Given the description of an element on the screen output the (x, y) to click on. 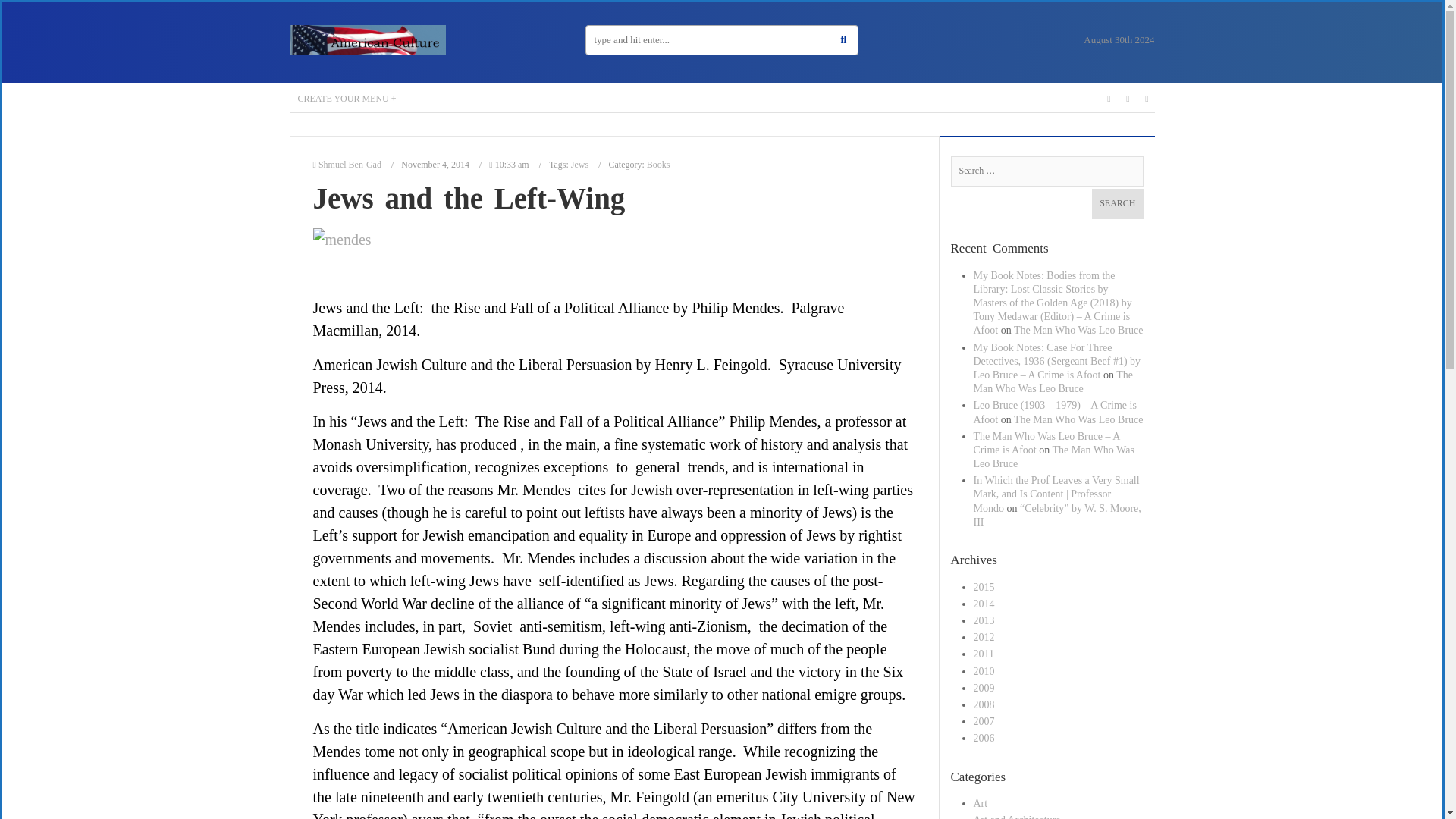
The Man Who Was Leo Bruce (1077, 329)
The Man Who Was Leo Bruce (1054, 456)
2012 (984, 636)
Art (981, 803)
Search (1117, 204)
Books (657, 163)
The Man Who Was Leo Bruce (1077, 419)
2009 (984, 687)
2015 (984, 586)
2008 (984, 704)
